Given the description of an element on the screen output the (x, y) to click on. 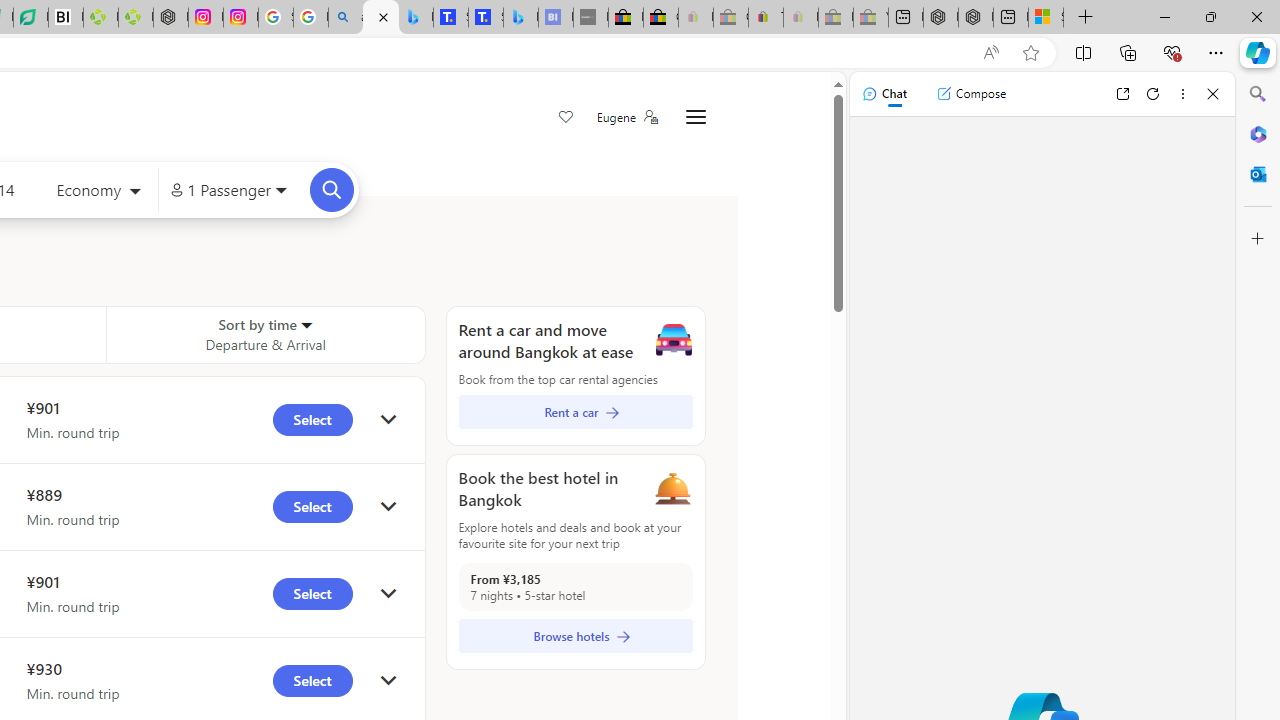
Threats and offensive language policy | eBay (765, 17)
Sort by time Sorter Departure & Arrival (265, 334)
Save (565, 118)
Open link in new tab (1122, 93)
Chat (884, 93)
Nordace - Nordace Edin Collection (170, 17)
Press Room - eBay Inc. - Sleeping (835, 17)
Eugene (626, 117)
